Given the description of an element on the screen output the (x, y) to click on. 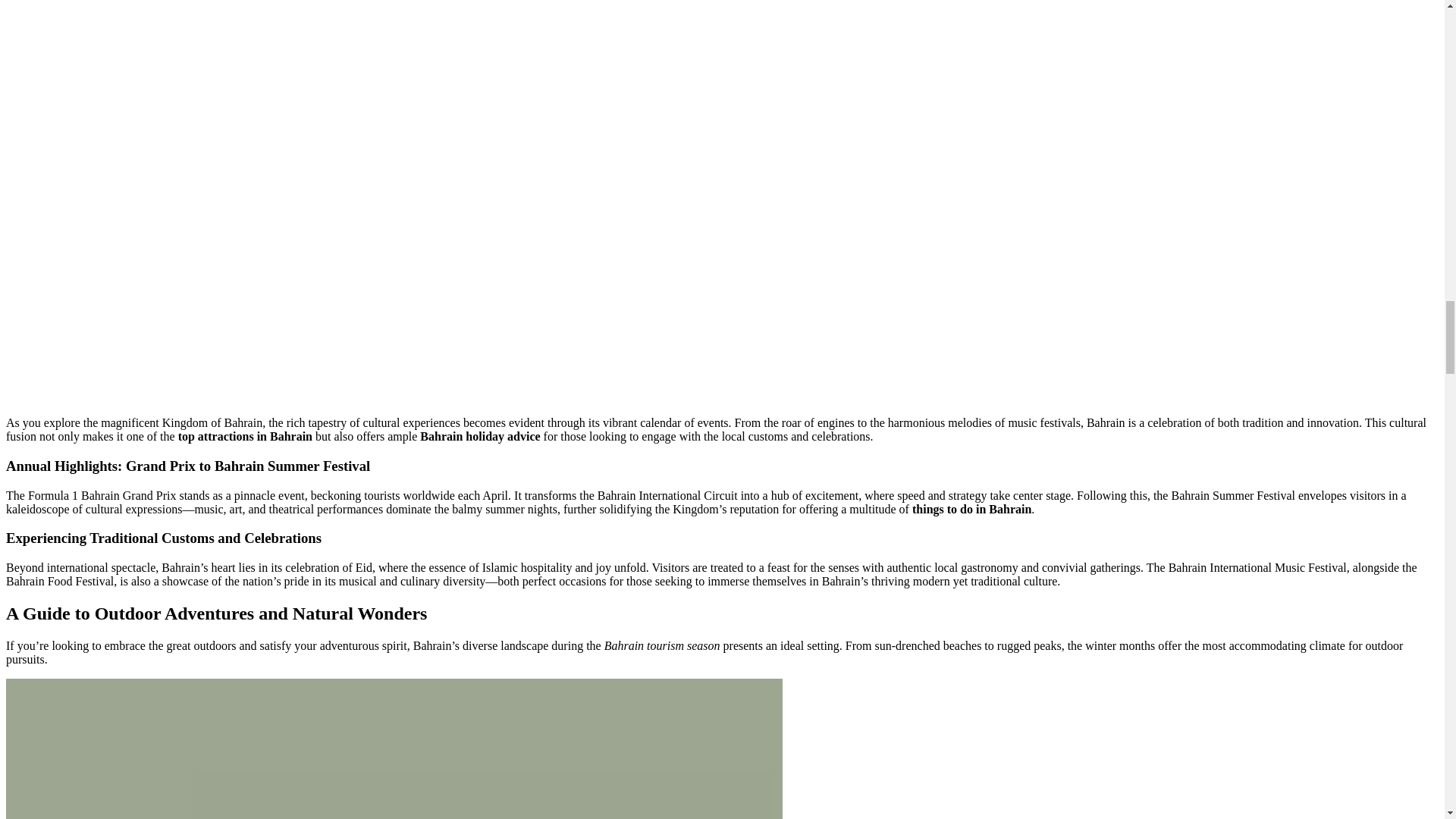
Water Sports in Bahrain (394, 748)
